Given the description of an element on the screen output the (x, y) to click on. 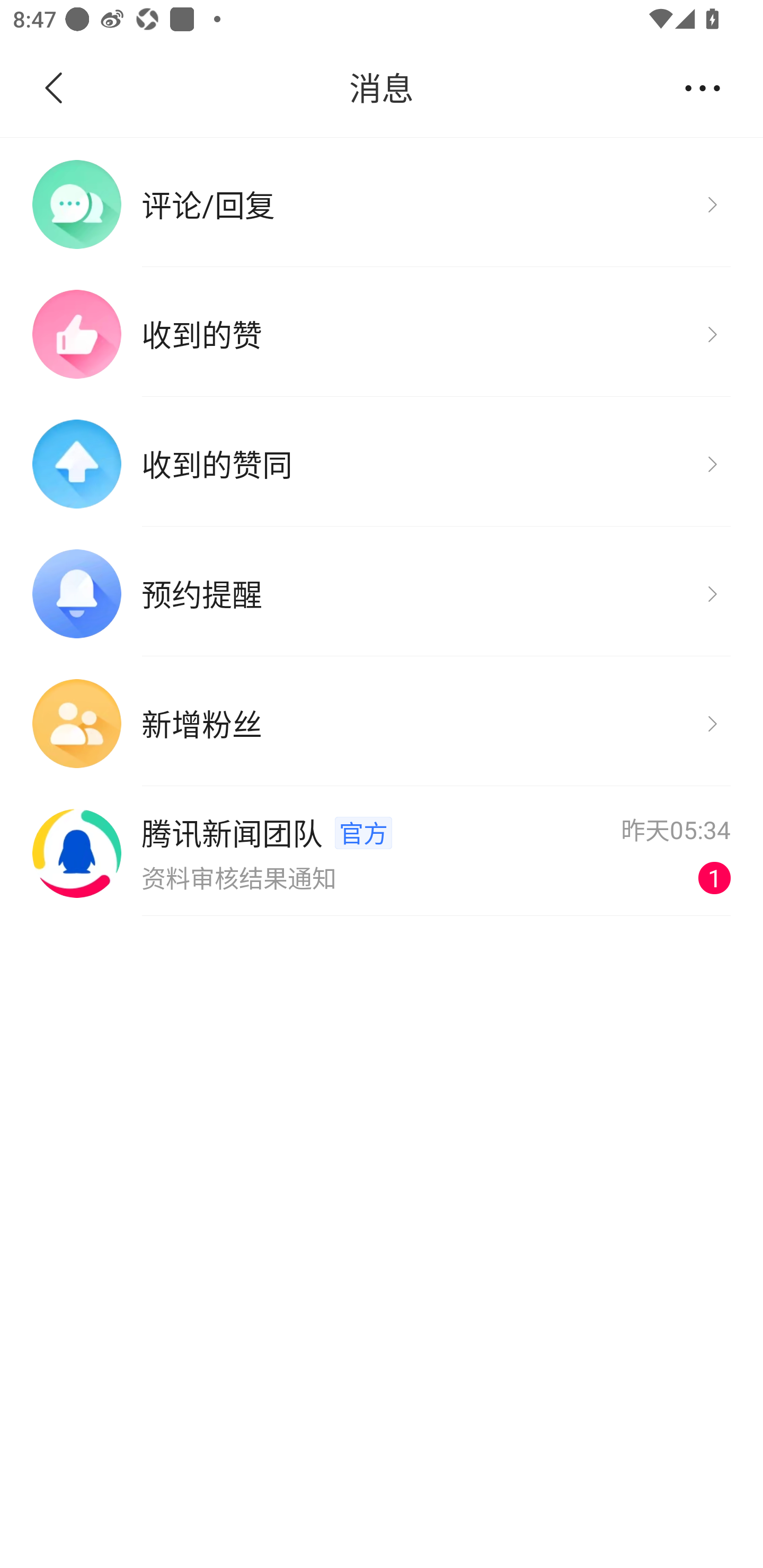
返回，可点击 (91, 87)
设置，可点击 (701, 87)
